Given the description of an element on the screen output the (x, y) to click on. 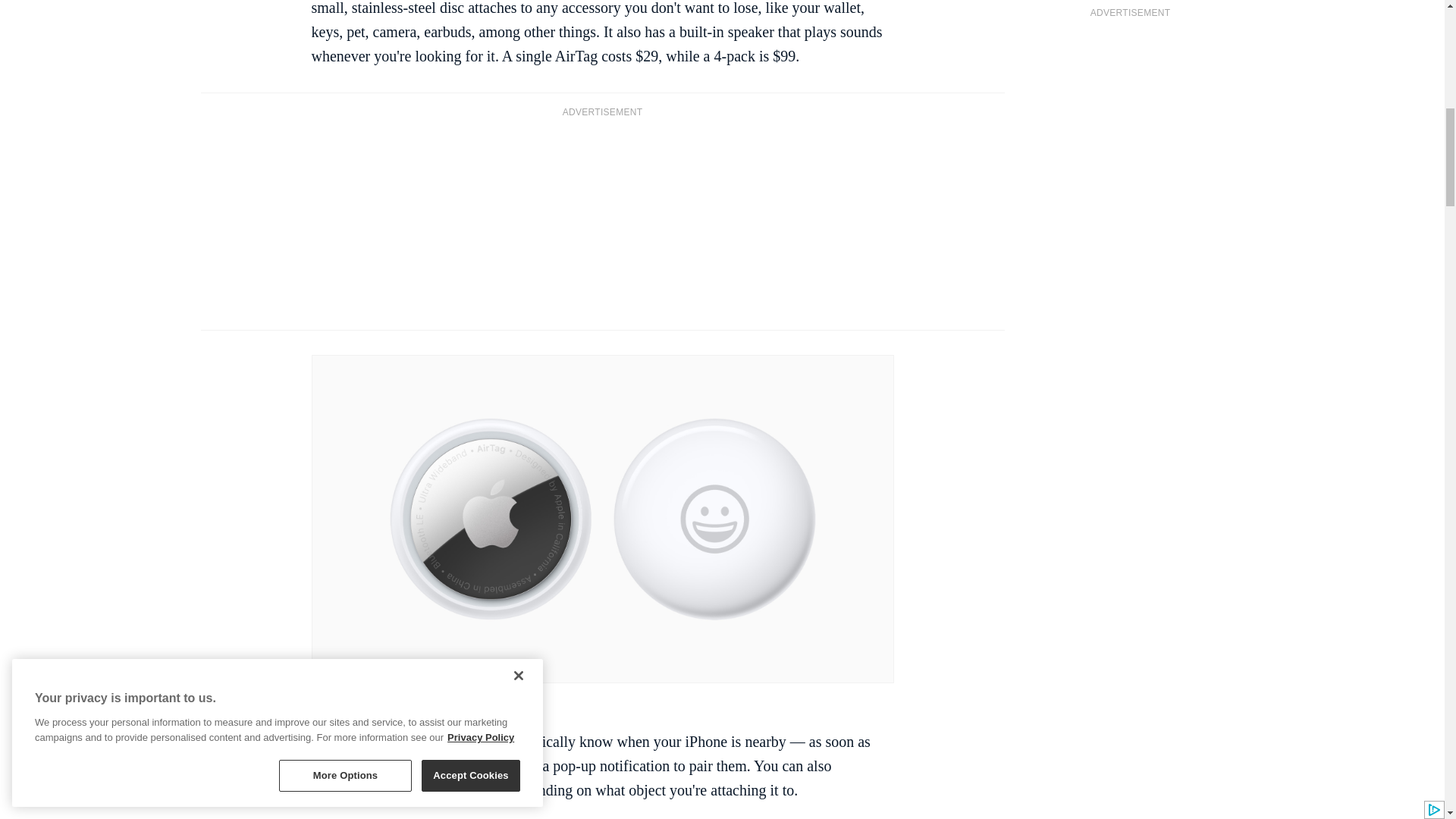
3rd party ad content (601, 222)
